Given the description of an element on the screen output the (x, y) to click on. 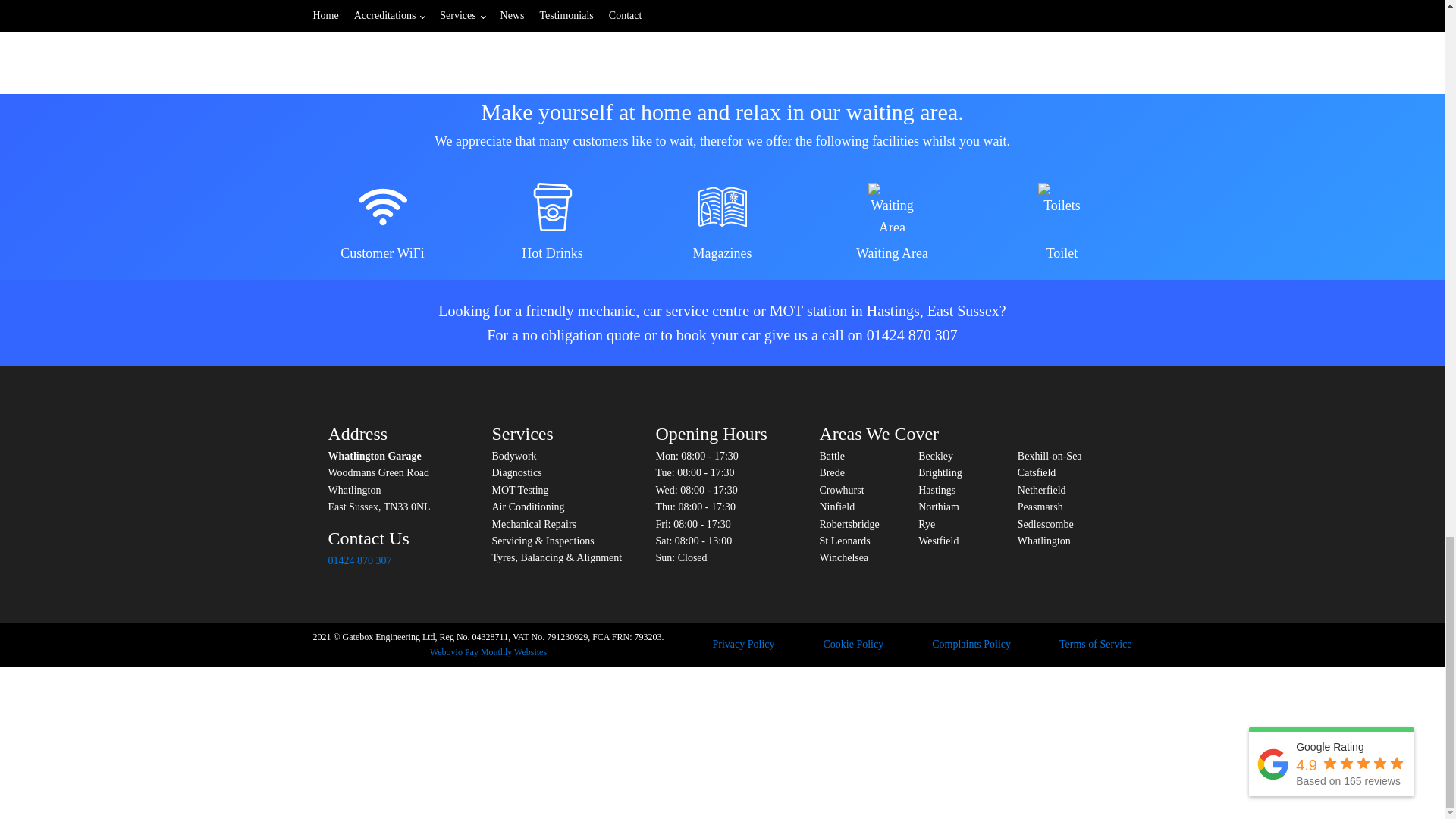
please get in touch (566, 11)
